Given the description of an element on the screen output the (x, y) to click on. 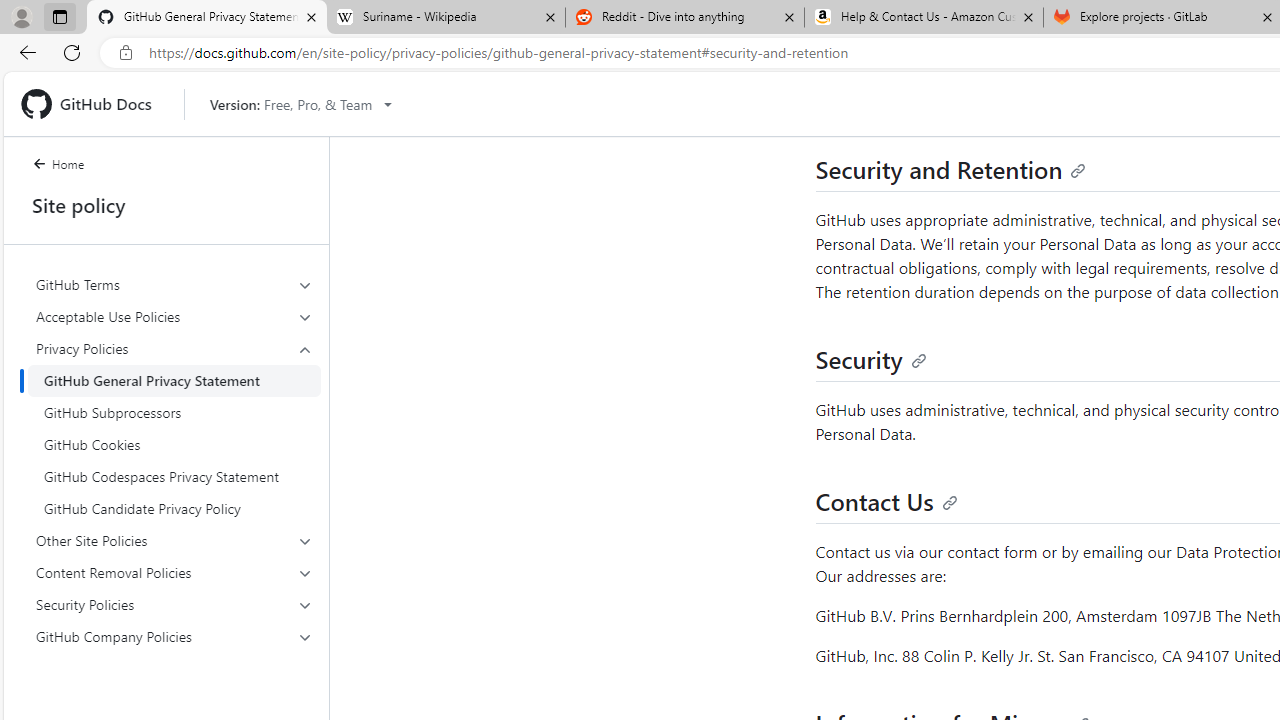
Privacy Policies (174, 348)
Acceptable Use Policies (174, 316)
GitHub Candidate Privacy Policy (174, 508)
GitHub Cookies (174, 444)
GitHub Subprocessors (174, 412)
GitHub Company Policies (174, 636)
